Given the description of an element on the screen output the (x, y) to click on. 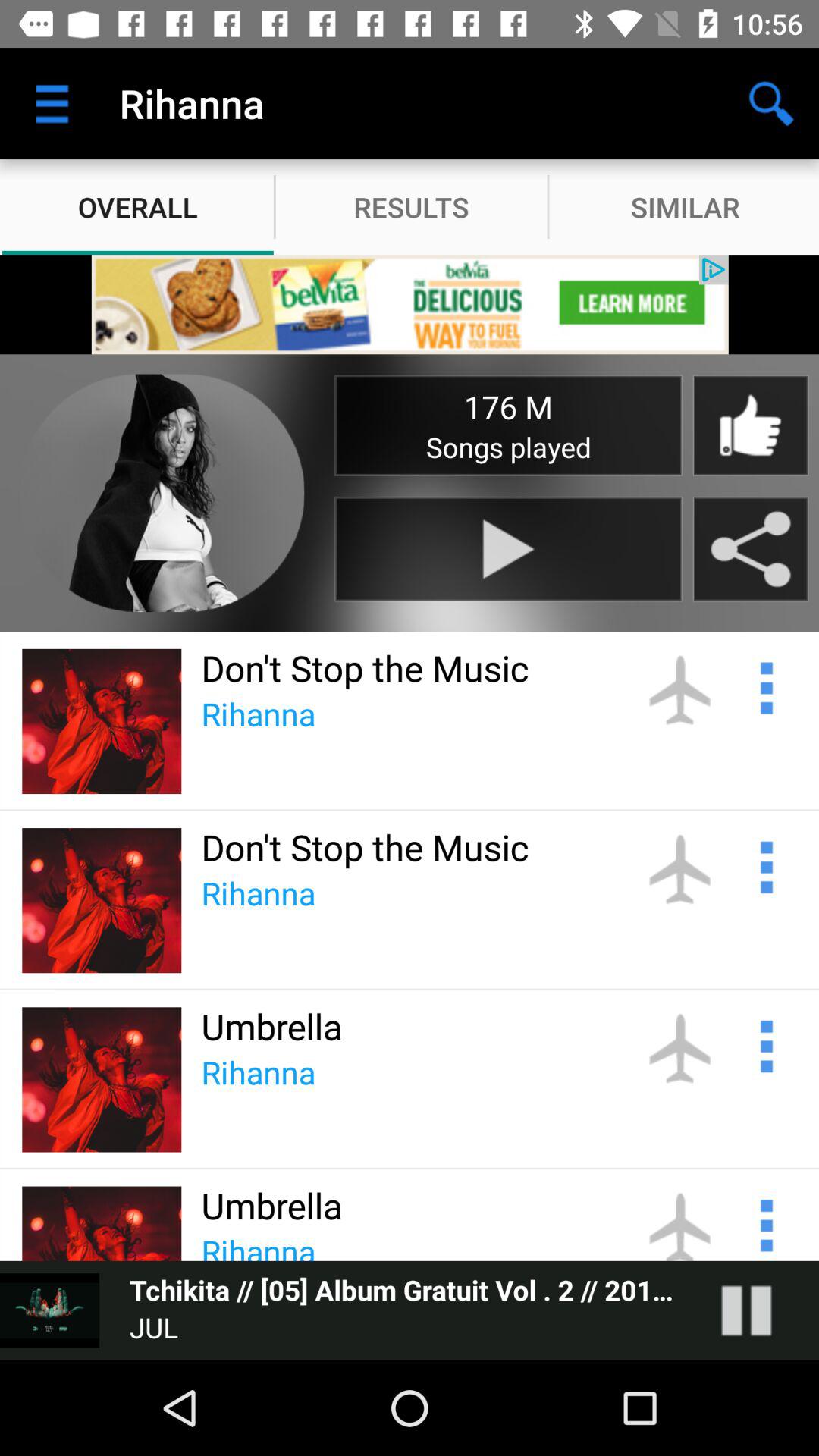
thumbs up (750, 424)
